Given the description of an element on the screen output the (x, y) to click on. 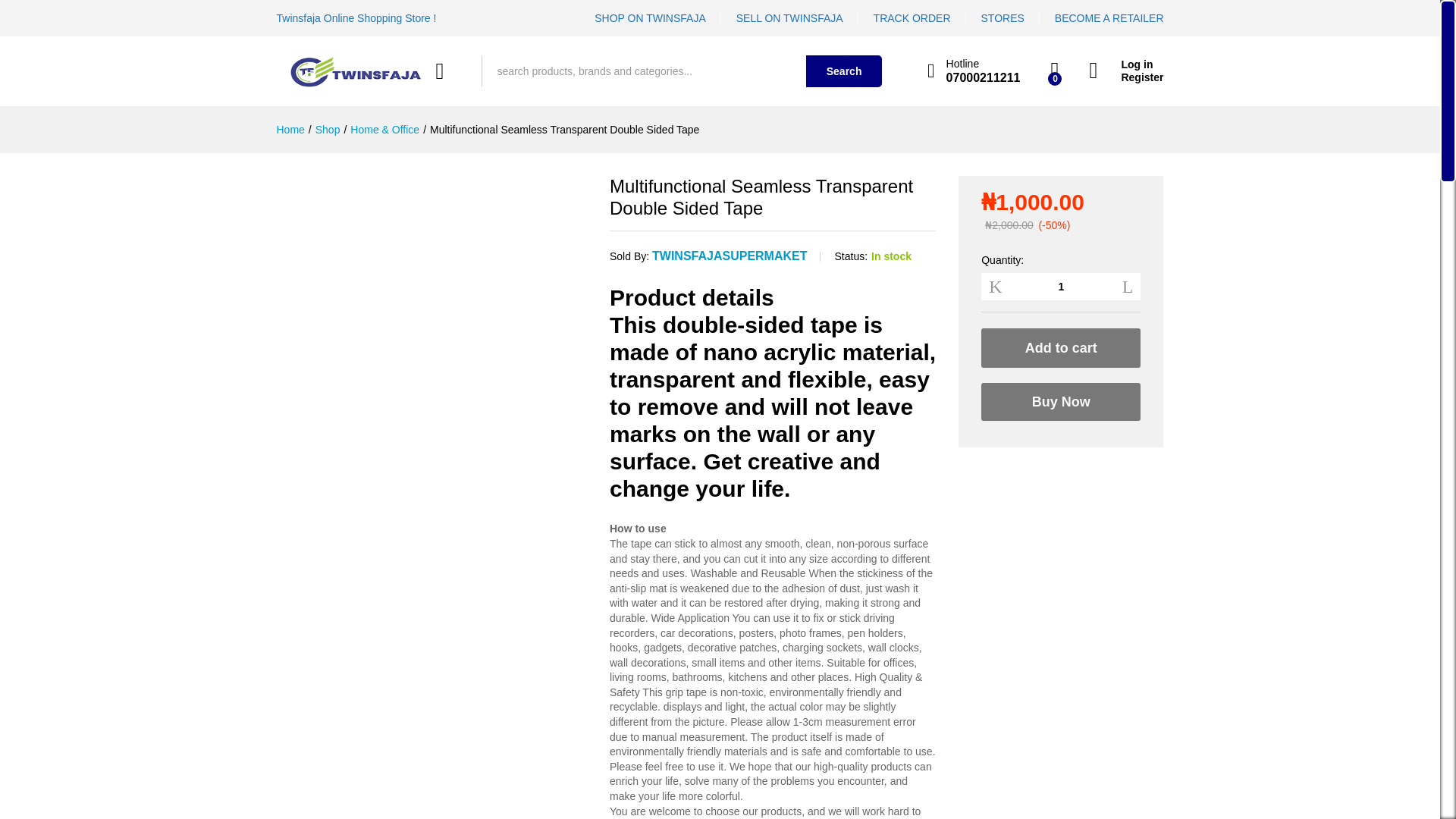
Buy Now (1060, 401)
TRACK ORDER (911, 18)
STORES (1003, 18)
SELL ON TWINSFAJA (789, 18)
Log in (1126, 64)
BECOME A RETAILER (1108, 18)
Search (844, 70)
Qty (1060, 286)
SHOP ON TWINSFAJA (650, 18)
1 (1060, 286)
TWINSFAJASUPERMAKET (729, 255)
Add to cart (1060, 347)
Register (1126, 77)
Shop (327, 129)
Multifunctional Seamless Transparent Double Sided Tape (563, 129)
